Given the description of an element on the screen output the (x, y) to click on. 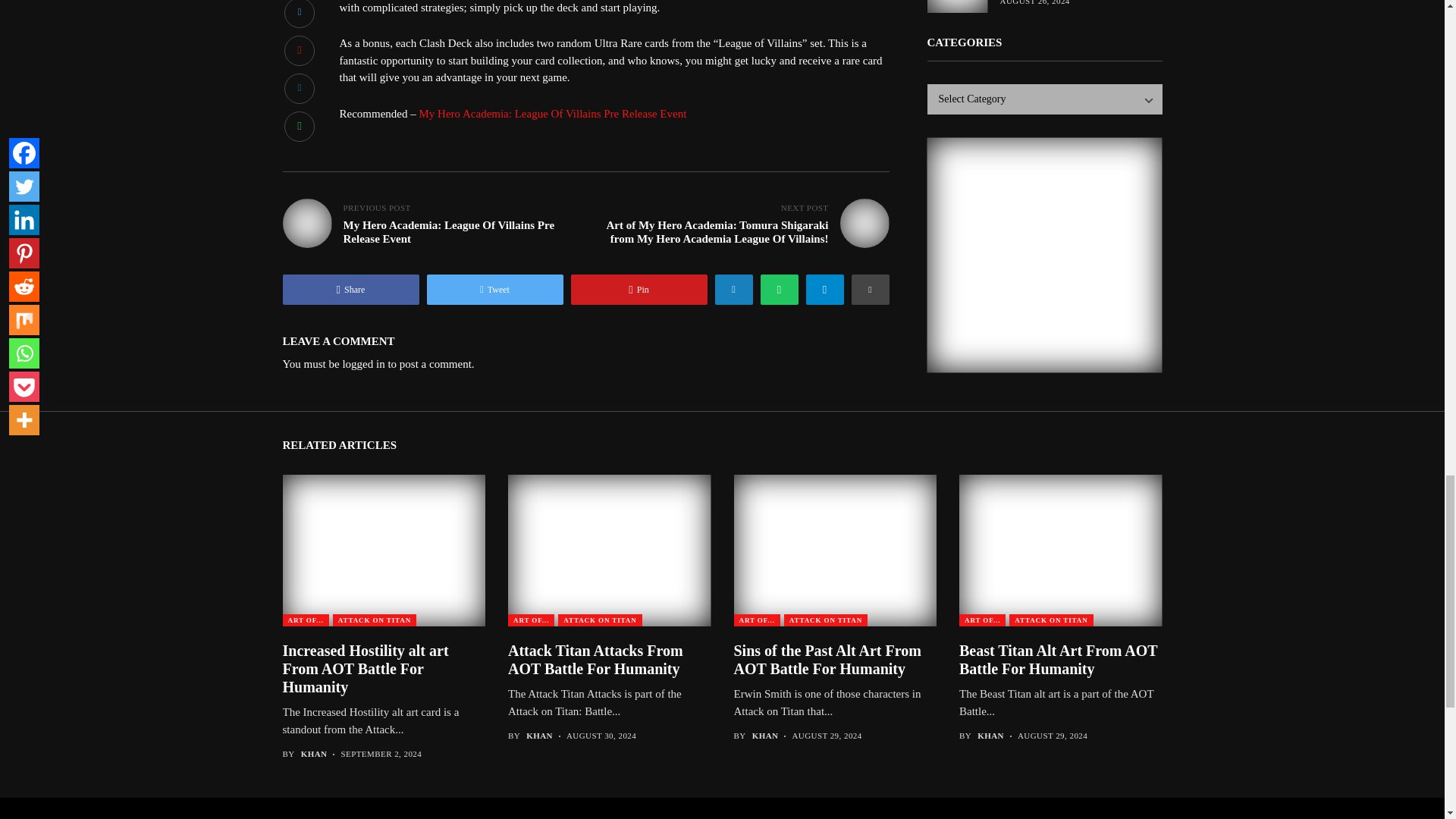
Posts by Khan (314, 754)
Posts by Khan (765, 736)
Posts by Khan (539, 736)
